Given the description of an element on the screen output the (x, y) to click on. 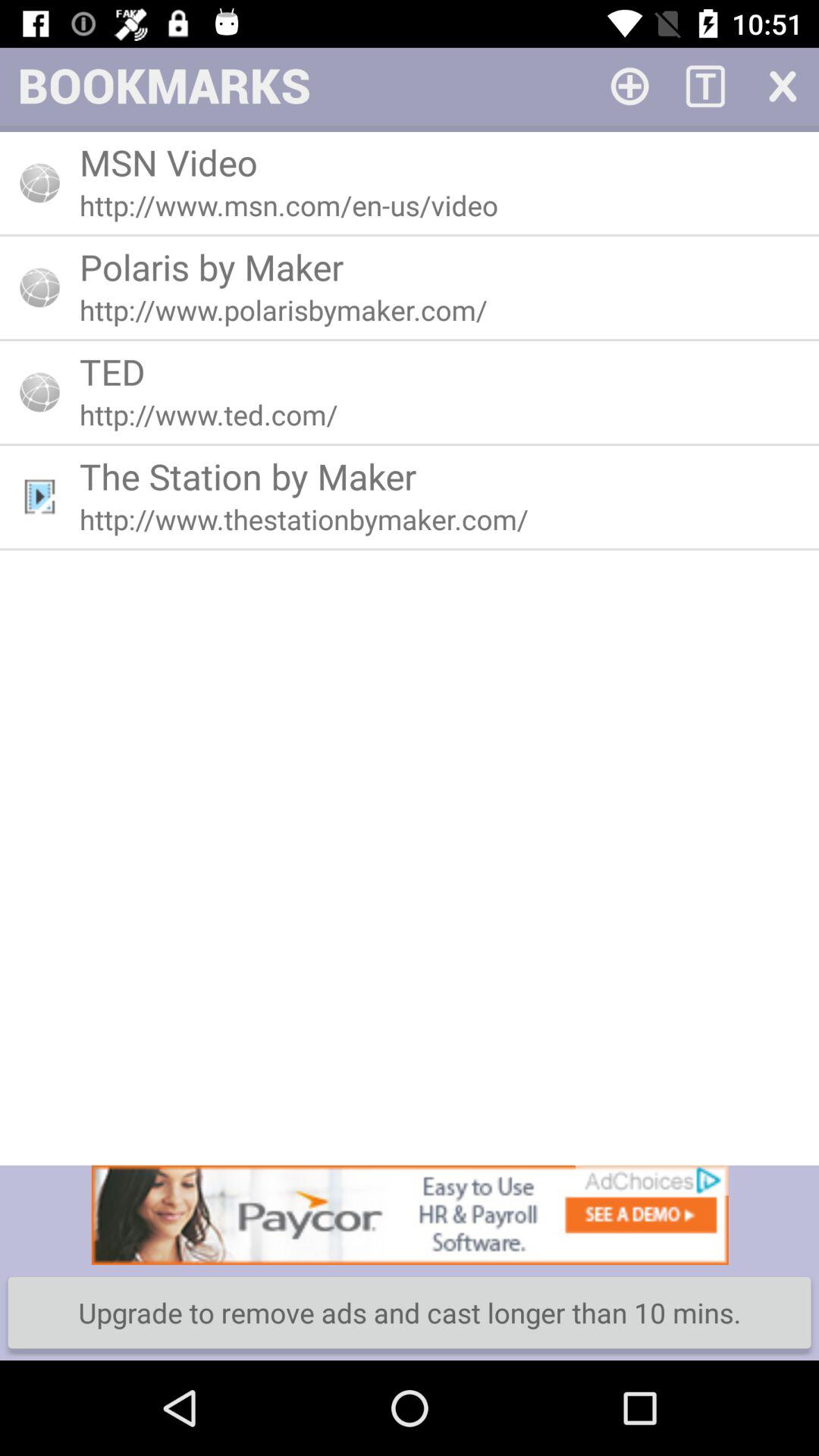
add new bookmark (629, 85)
